Given the description of an element on the screen output the (x, y) to click on. 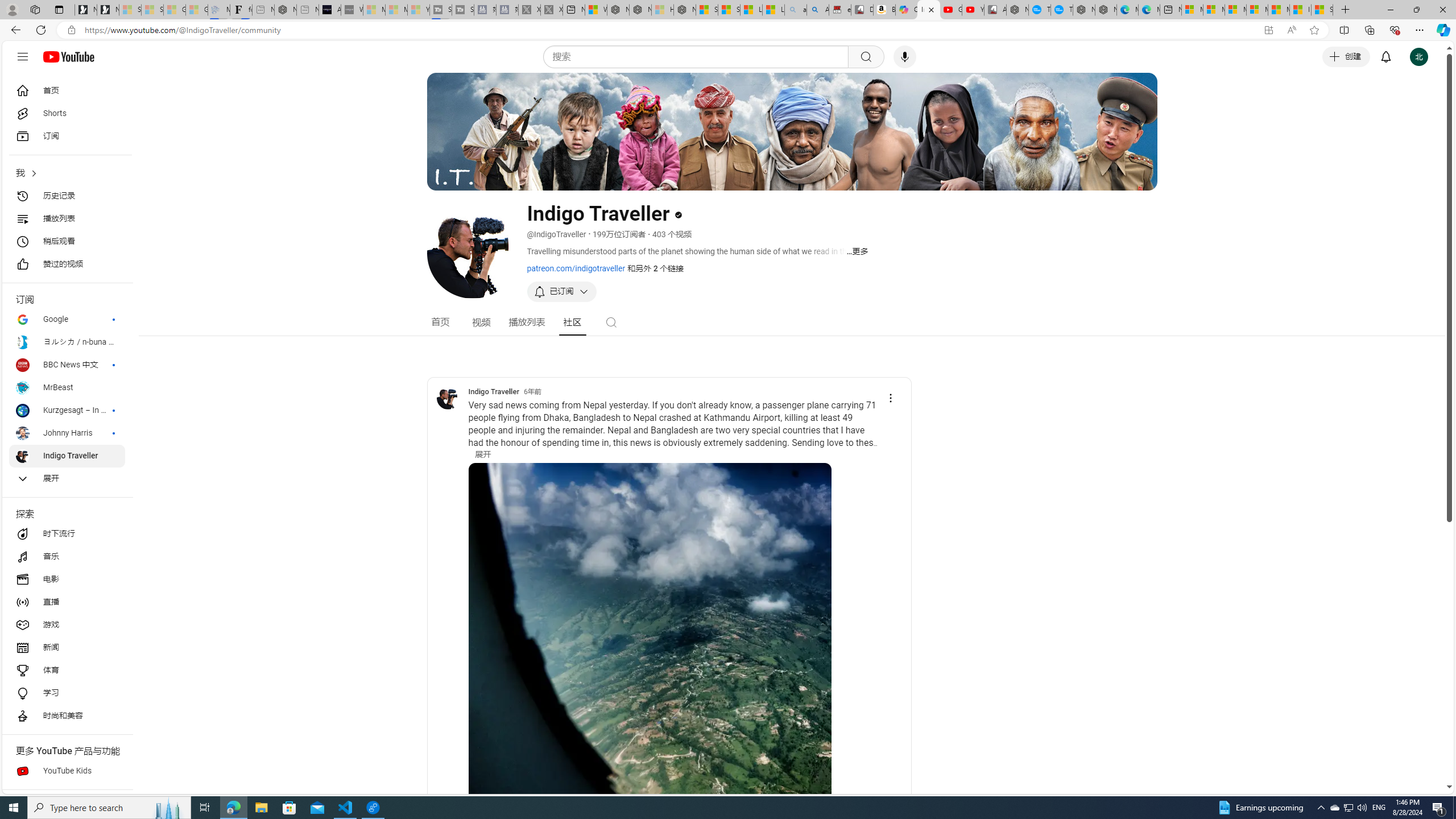
I Gained 20 Pounds of Muscle in 30 Days! | Watch (1300, 9)
YouTube Kids - An App Created for Kids to Explore Content (972, 9)
Newsletter Sign Up (107, 9)
AI Voice Changer for PC and Mac - Voice.ai (330, 9)
Indigo Traveller (448, 397)
